Given the description of an element on the screen output the (x, y) to click on. 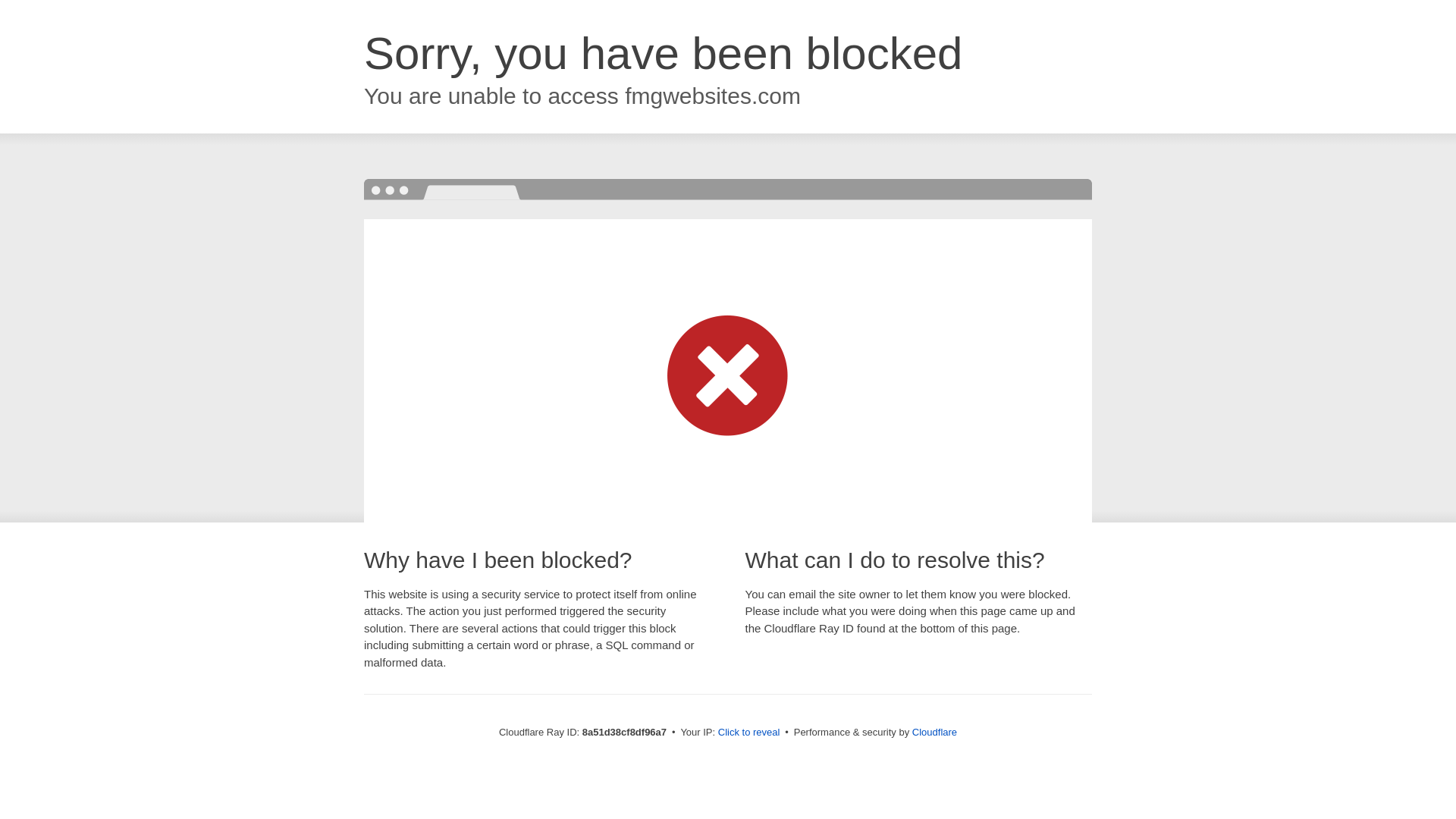
Cloudflare (934, 731)
Click to reveal (748, 732)
